Given the description of an element on the screen output the (x, y) to click on. 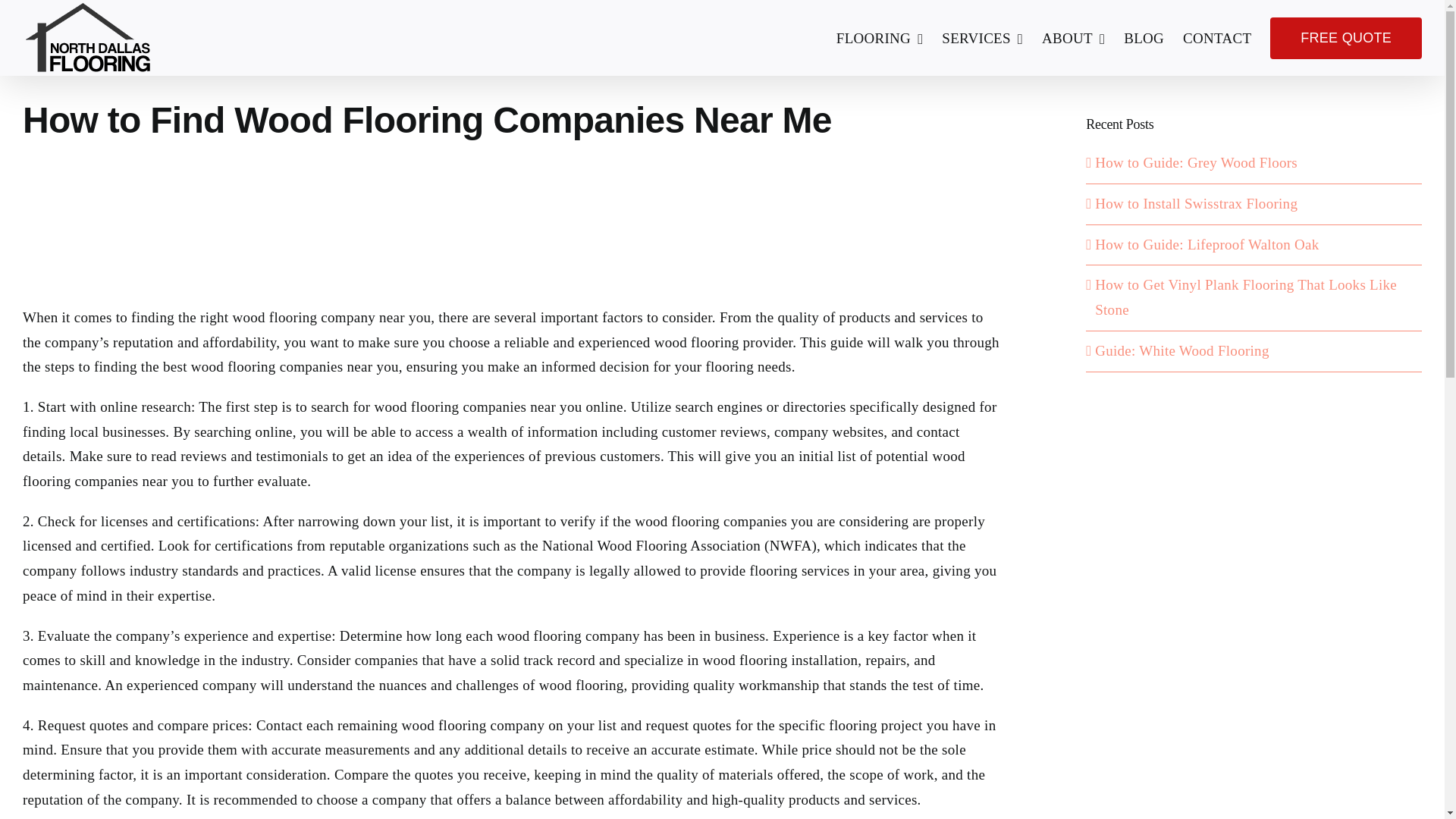
FREE QUOTE (1345, 38)
SERVICES (982, 38)
CONTACT (1216, 38)
FLOORING (879, 38)
